Given the description of an element on the screen output the (x, y) to click on. 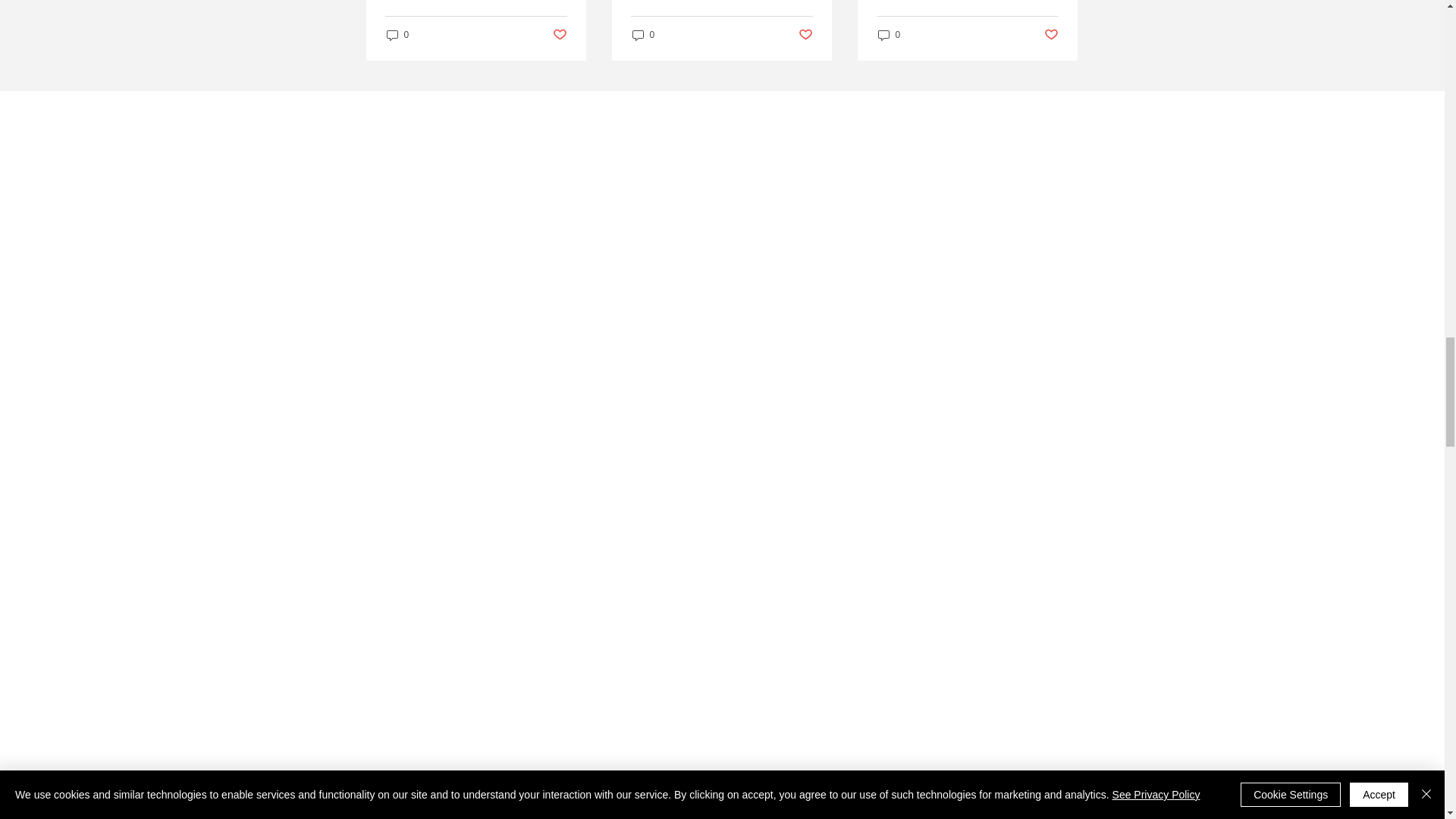
Post not marked as liked (804, 35)
0 (397, 34)
Post not marked as liked (558, 35)
0 (643, 34)
0 (889, 34)
